Given the description of an element on the screen output the (x, y) to click on. 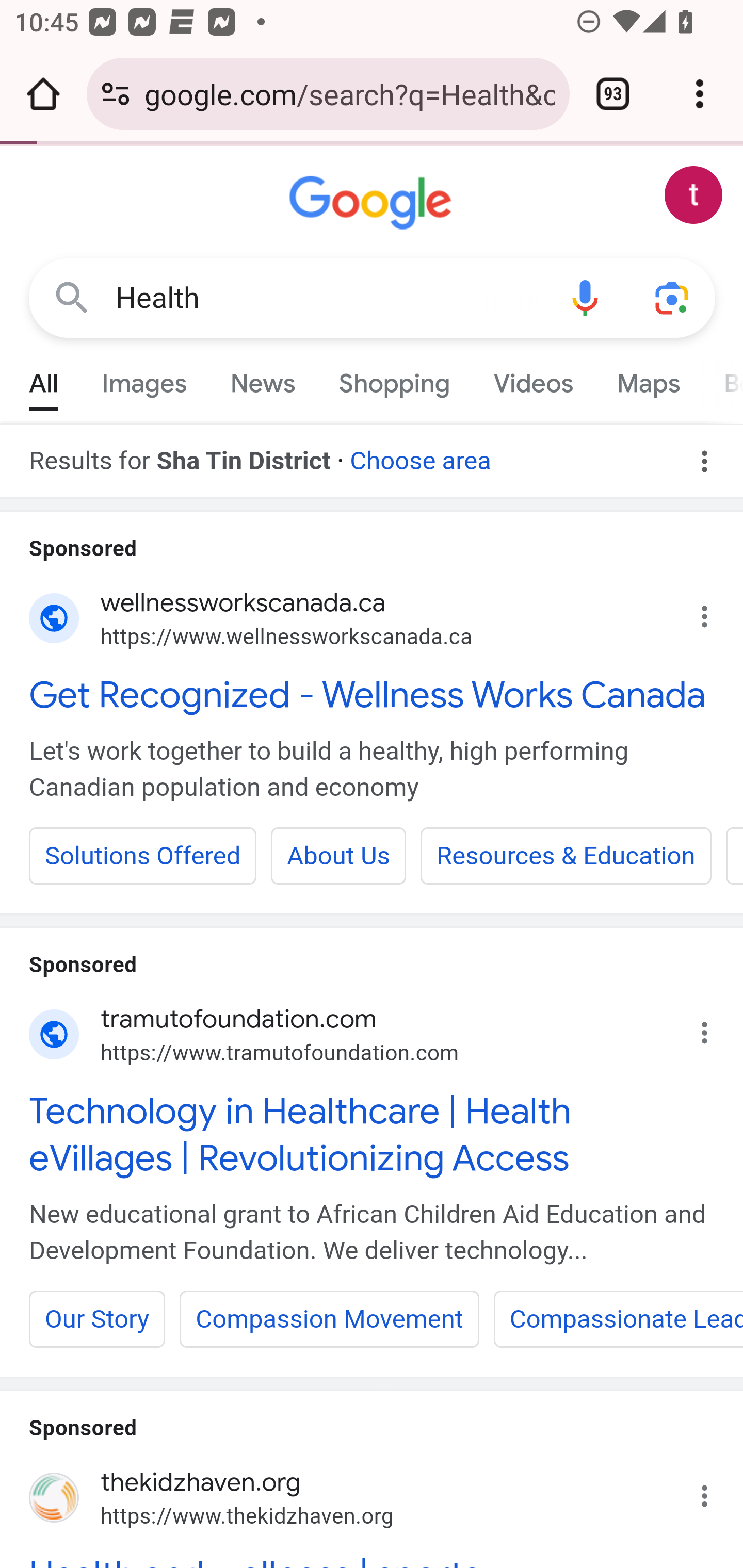
Open the home page (43, 93)
Connection is secure (115, 93)
Switch or close tabs (612, 93)
Customize and control Google Chrome (699, 93)
Google (372, 203)
Google Search (71, 296)
Search using your camera or photos (672, 296)
Health (328, 297)
Images (144, 378)
News (262, 378)
Shopping (394, 378)
Videos (533, 378)
Maps (647, 378)
Choose area (419, 453)
Why this ad? (714, 611)
Get Recognized - Wellness Works Canada (372, 694)
Solutions Offered (142, 855)
About Us (339, 855)
Resources & Education (566, 855)
Why this ad? (714, 1027)
Our Story (97, 1318)
Compassion Movement (329, 1318)
Compassionate Leadership (617, 1318)
Why this ad? (714, 1489)
